Given the description of an element on the screen output the (x, y) to click on. 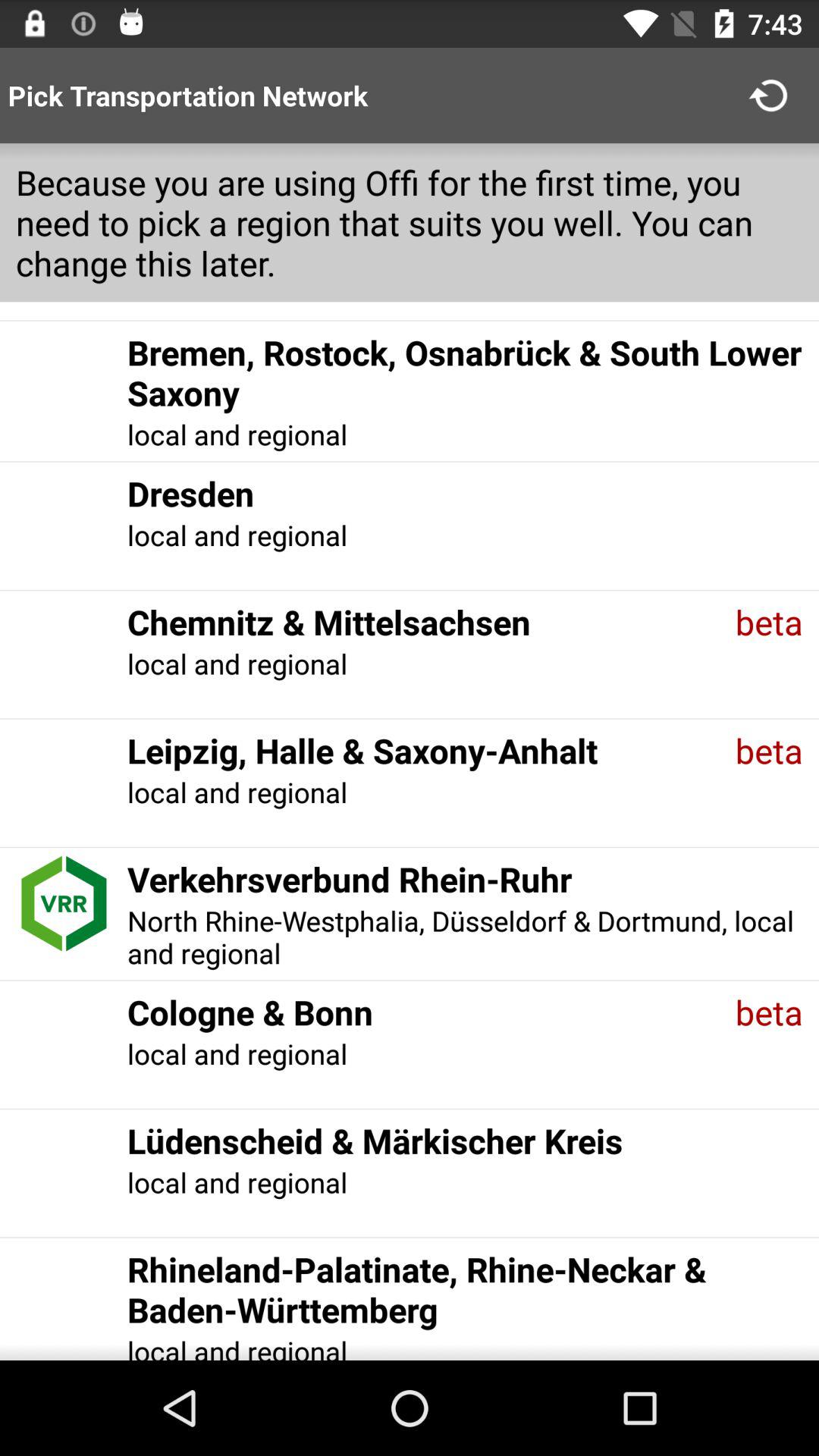
launch app next to pick transportation network icon (771, 95)
